Given the description of an element on the screen output the (x, y) to click on. 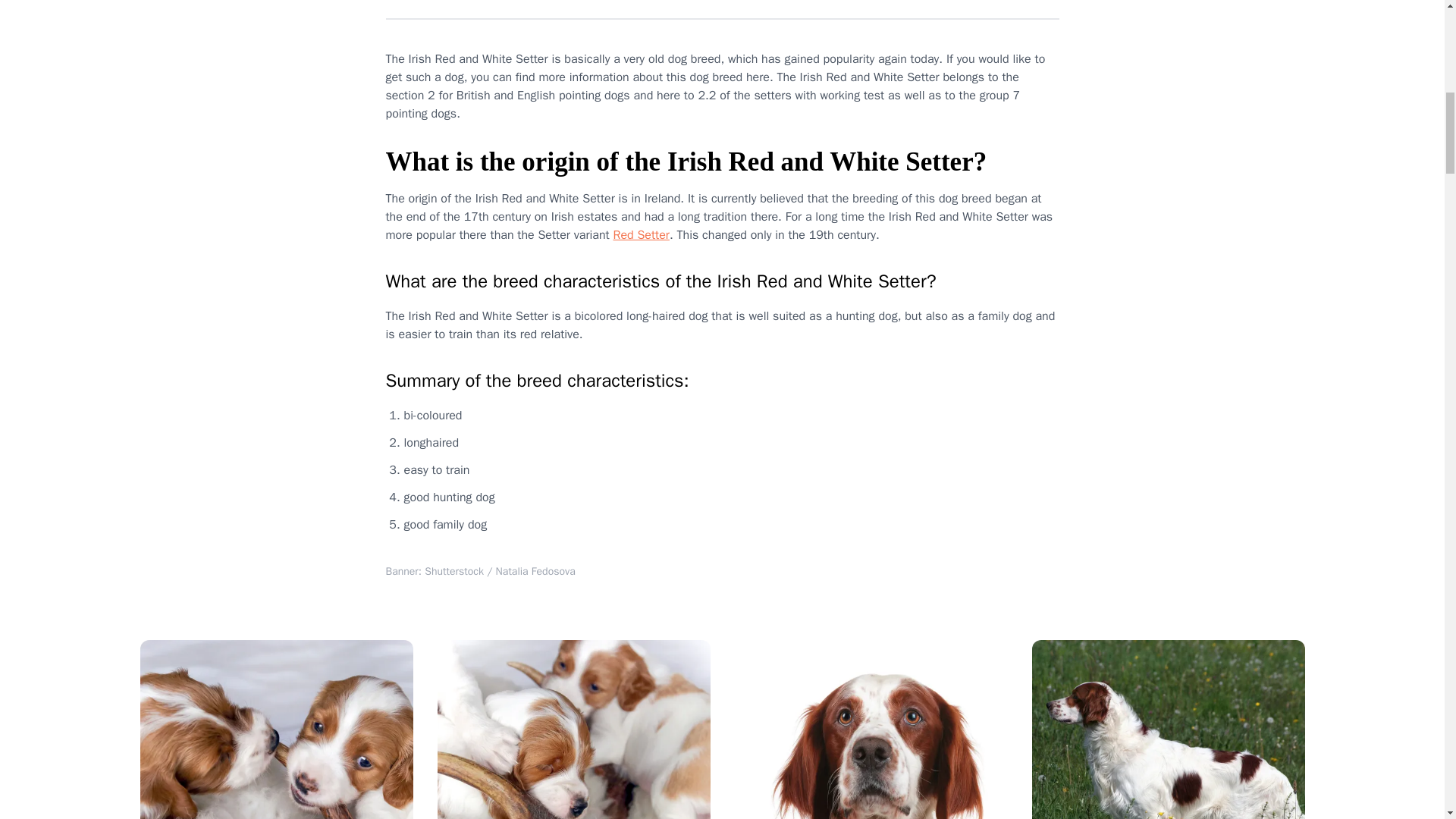
Irish red and white setter male (1167, 729)
Irish red and white setter puppy (275, 729)
Red Setter (640, 234)
Irish red and White Setter puppies on coat (573, 729)
Irish Red and White Setter (870, 729)
